Given the description of an element on the screen output the (x, y) to click on. 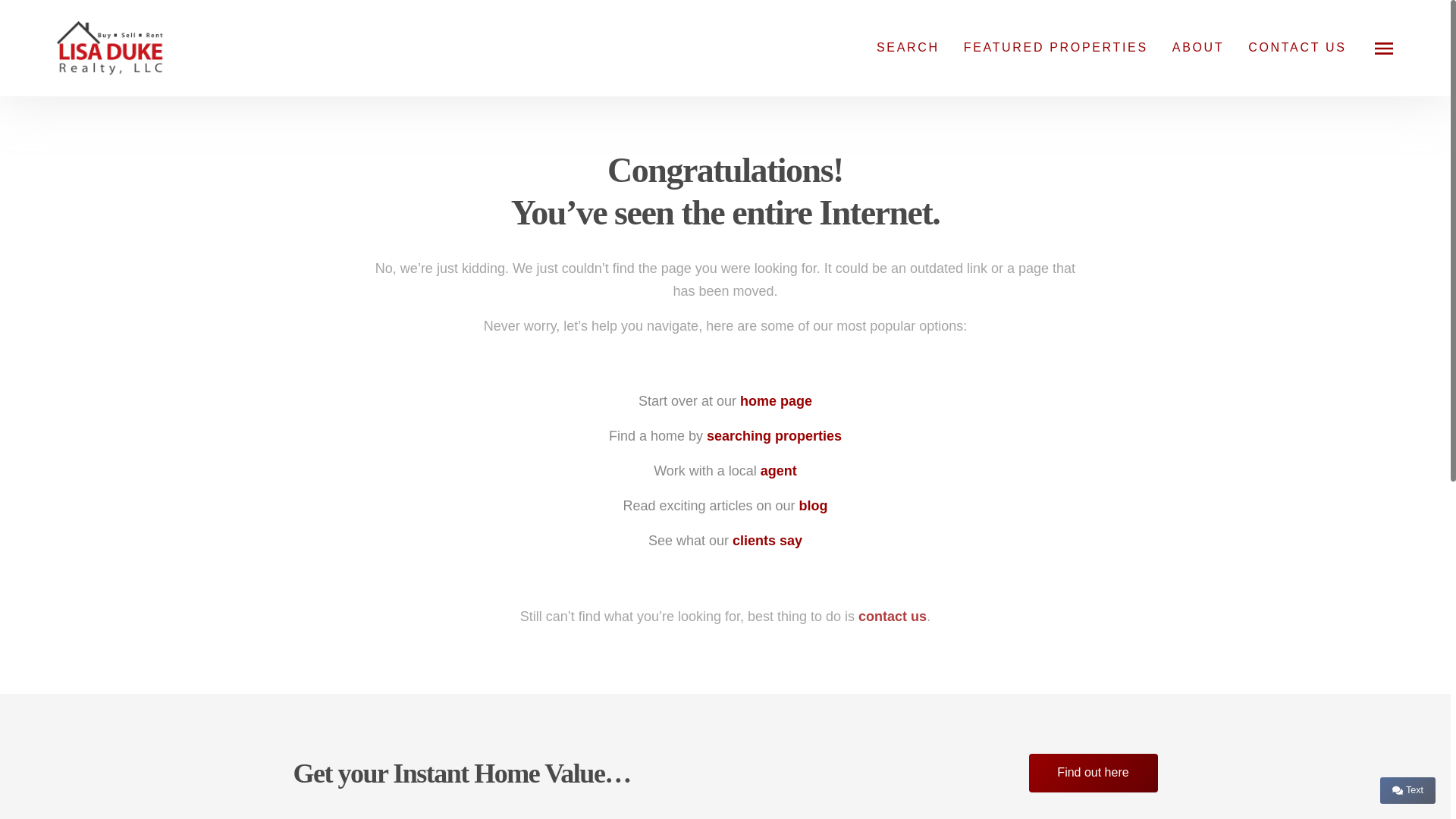
ABOUT (1198, 47)
SEARCH (907, 47)
FEATURED PROPERTIES (1055, 47)
CONTACT US (1296, 47)
home page (775, 400)
